Given the description of an element on the screen output the (x, y) to click on. 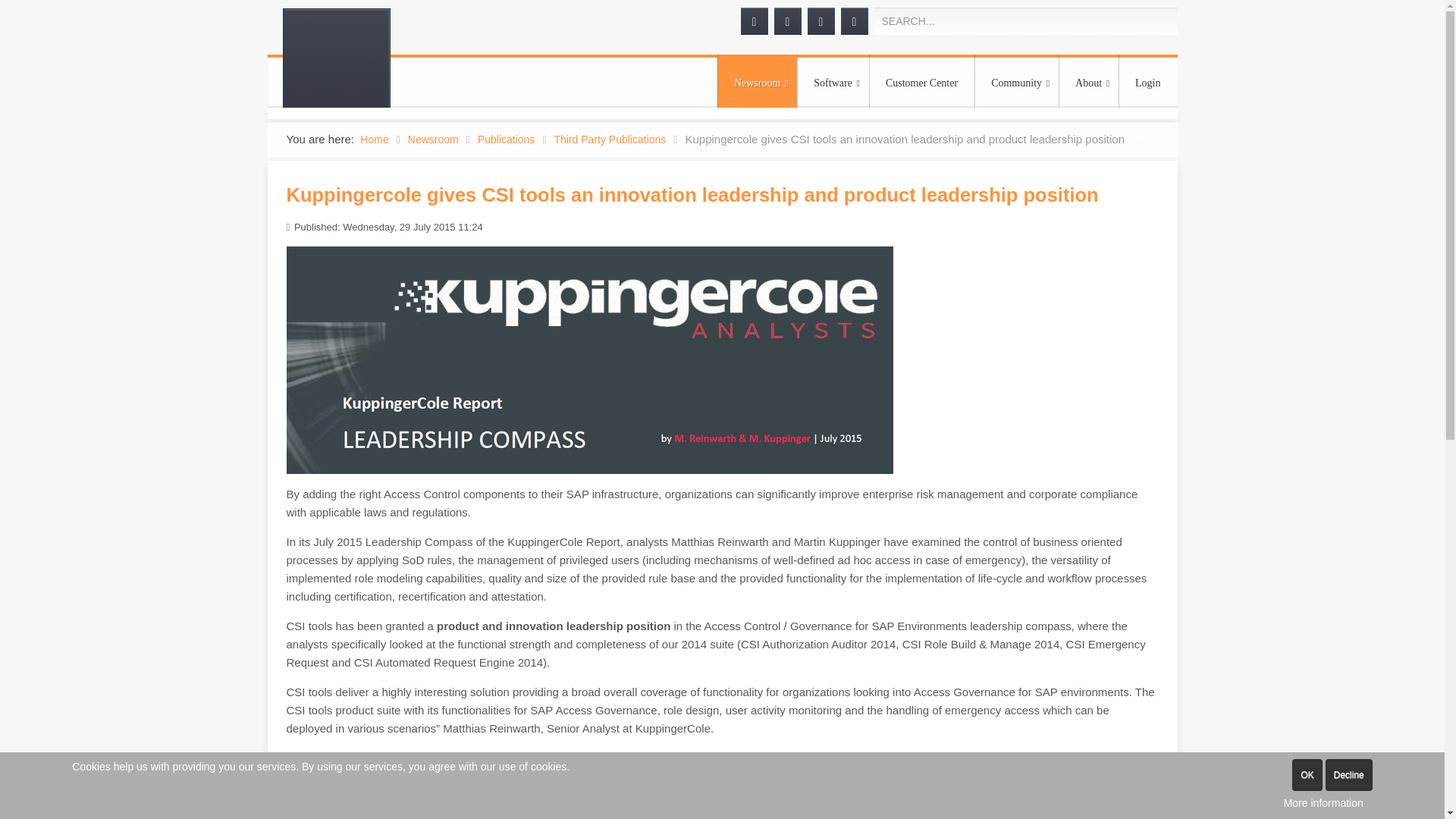
Newsroom (756, 82)
Customer Center (921, 82)
About (1088, 82)
Community (1016, 82)
Software (832, 82)
